Given the description of an element on the screen output the (x, y) to click on. 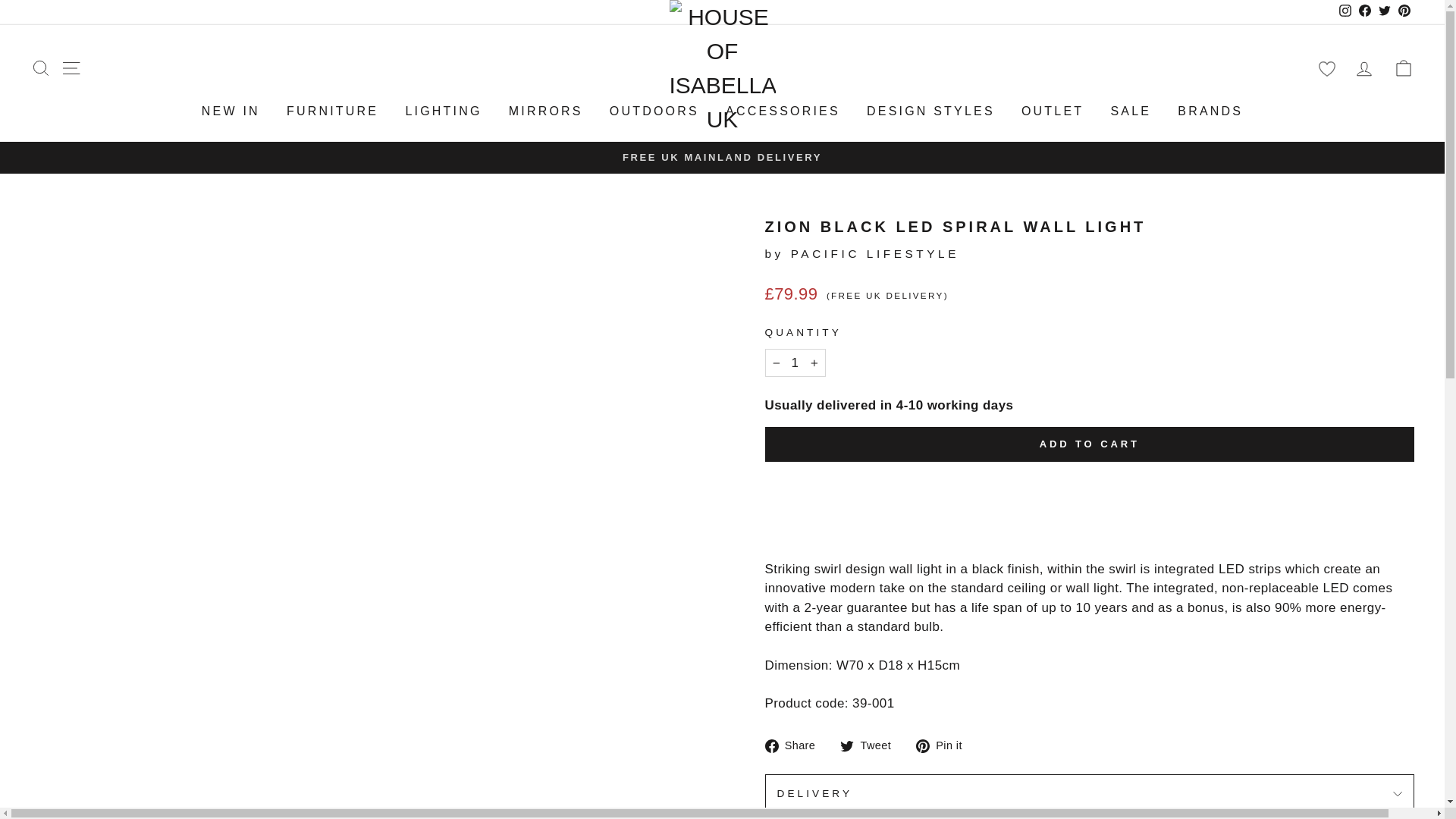
Tweet on Twitter (871, 745)
Pin on Pinterest (944, 745)
1 (794, 362)
Share on Facebook (795, 745)
wishlist (1325, 68)
